Given the description of an element on the screen output the (x, y) to click on. 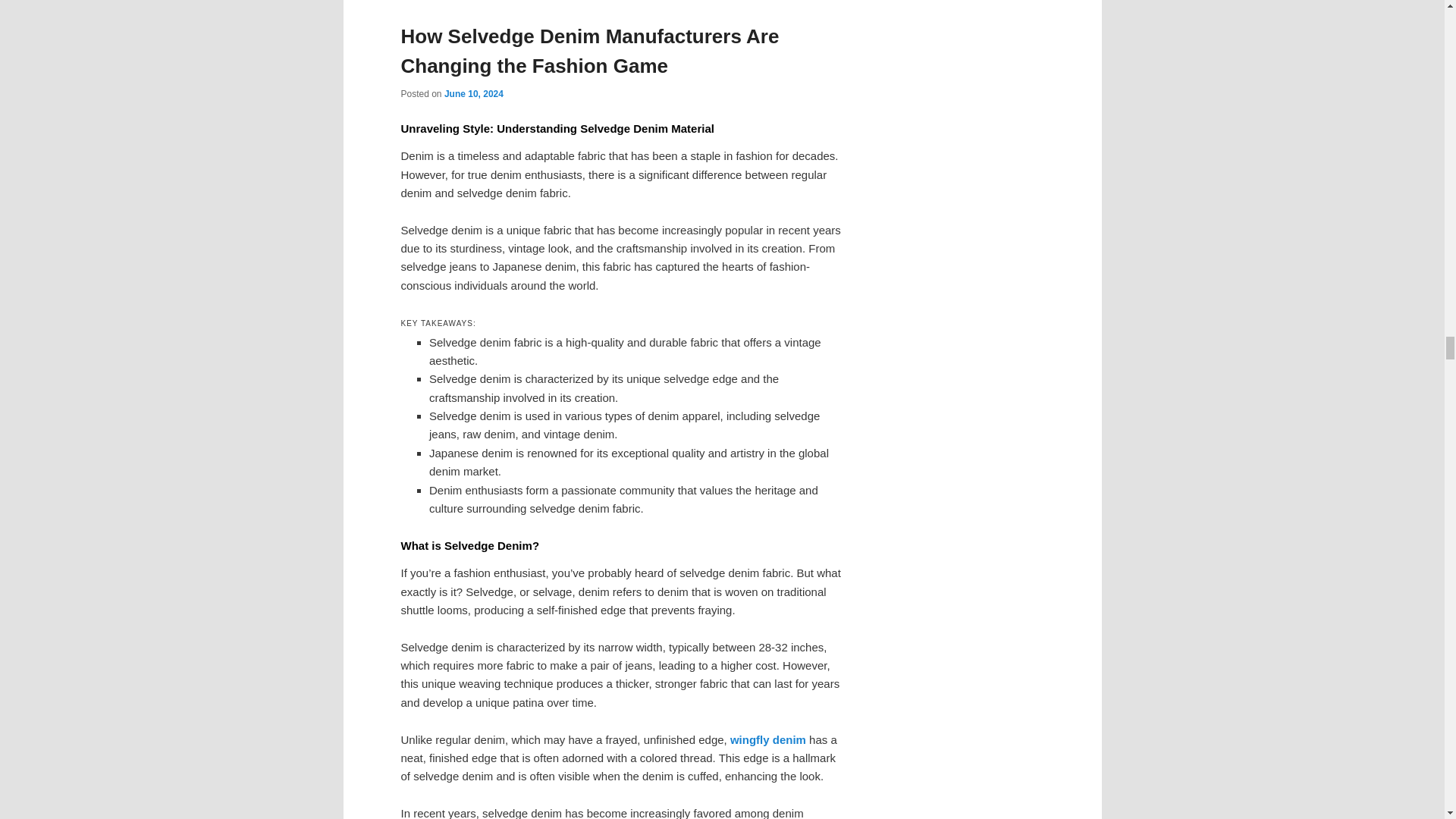
June 10, 2024 (473, 93)
wingfly denim (768, 739)
8:06 pm (473, 93)
